Given the description of an element on the screen output the (x, y) to click on. 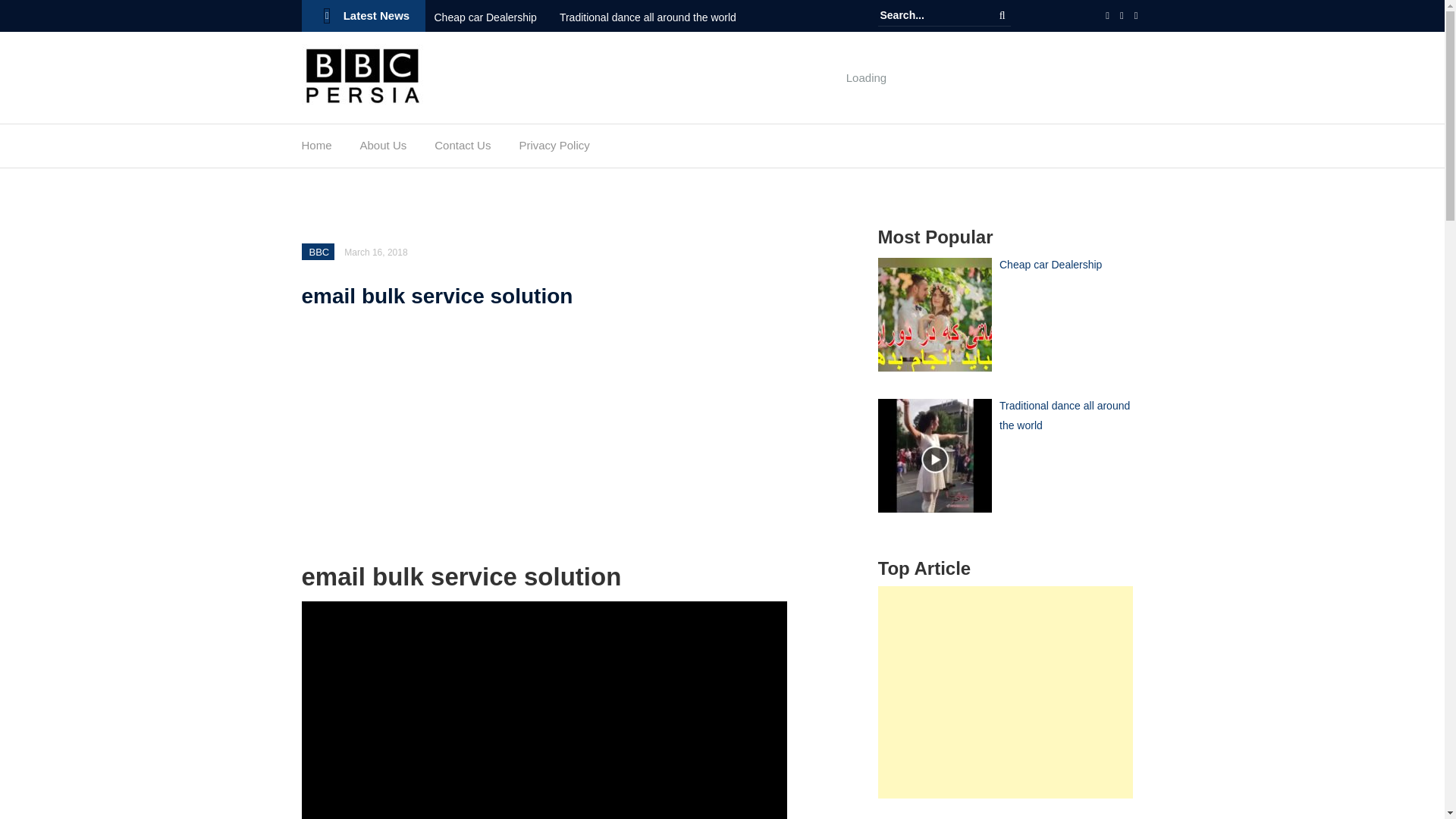
About Us (383, 148)
Cheap car Dealership (496, 17)
Traditional dance all around the world (658, 17)
BBC (319, 251)
Search   (1002, 14)
Privacy Policy (553, 148)
Home (316, 148)
Contact Us (461, 148)
